Given the description of an element on the screen output the (x, y) to click on. 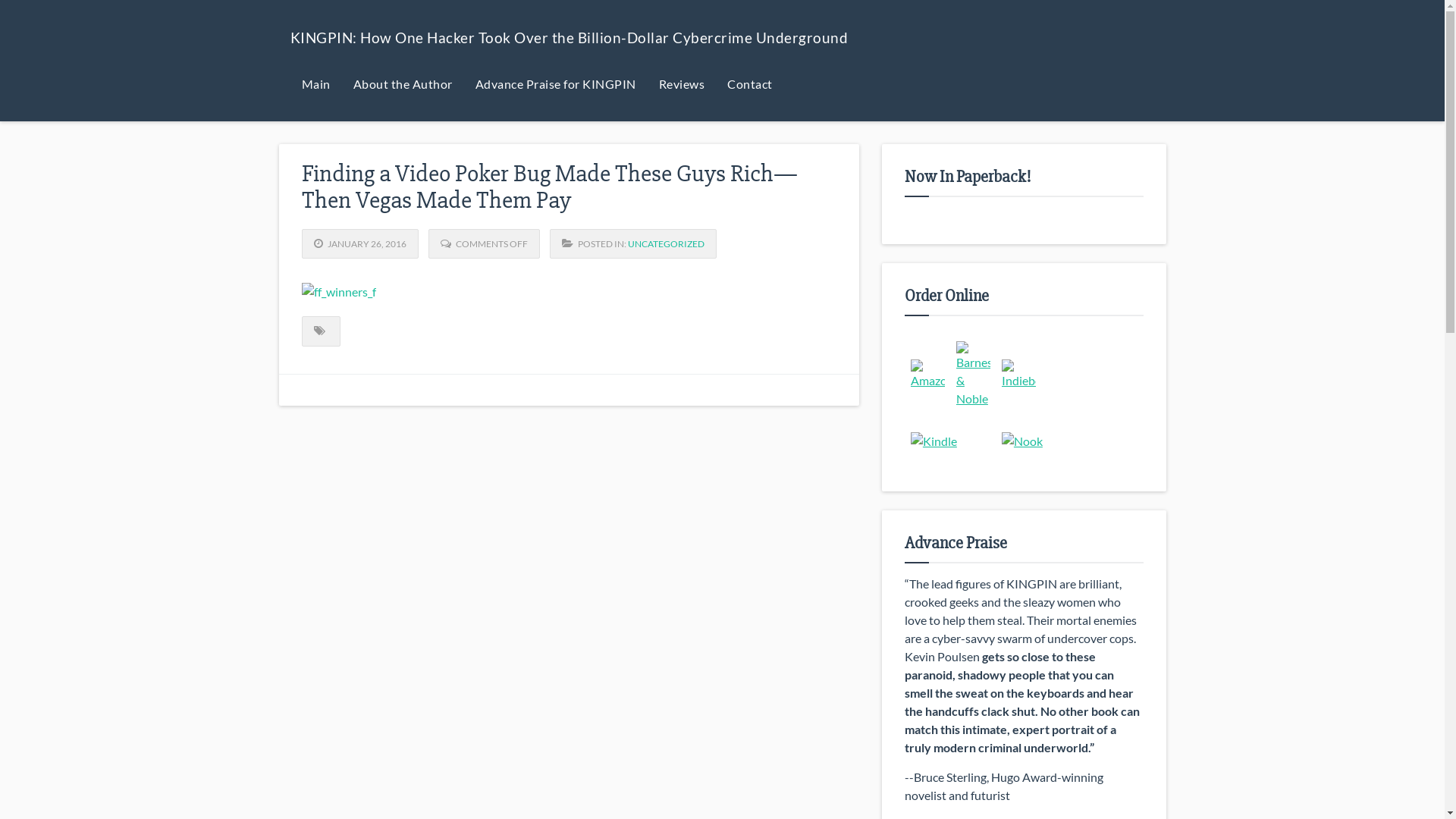
Amazon Element type: hover (927, 374)
Advance Praise for KINGPIN Element type: text (555, 83)
Barnes & Noble Element type: hover (973, 374)
Kindle Element type: hover (933, 441)
Nook Element type: hover (1021, 441)
Contact Element type: text (749, 83)
Reviews Element type: text (681, 83)
Indiebound Element type: hover (1018, 374)
Main Element type: text (315, 83)
UNCATEGORIZED Element type: text (665, 243)
About the Author Element type: text (402, 83)
